Given the description of an element on the screen output the (x, y) to click on. 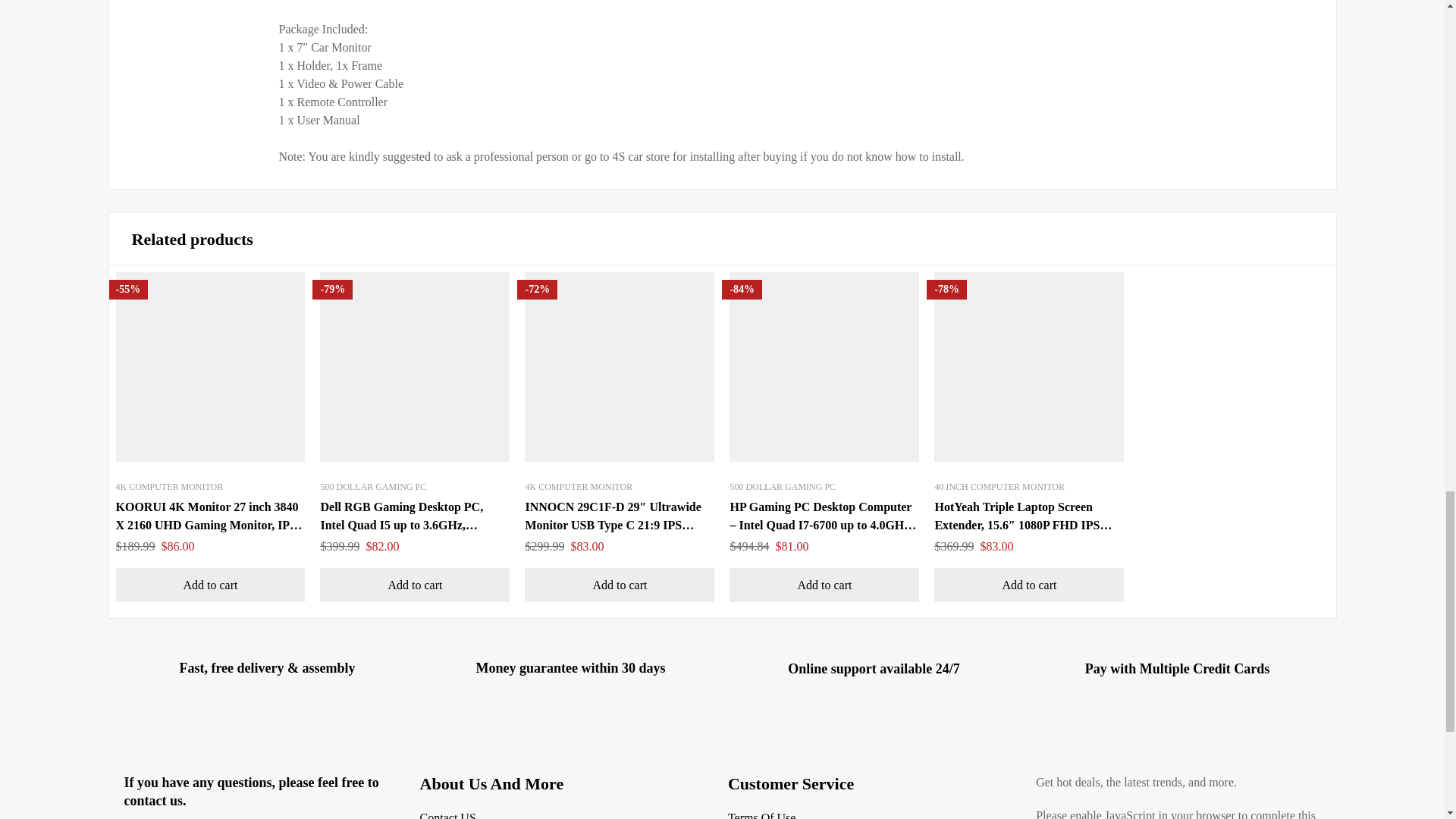
4K COMPUTER MONITOR (577, 486)
Add to cart (414, 584)
Add to cart (209, 584)
500 DOLLAR GAMING PC (373, 486)
4K COMPUTER MONITOR (168, 486)
